Given the description of an element on the screen output the (x, y) to click on. 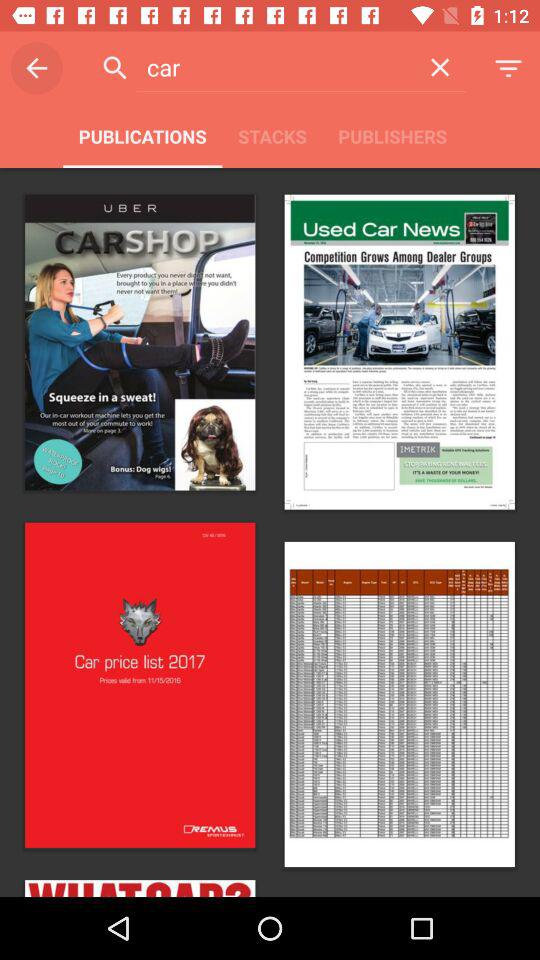
open item above publications item (274, 67)
